Given the description of an element on the screen output the (x, y) to click on. 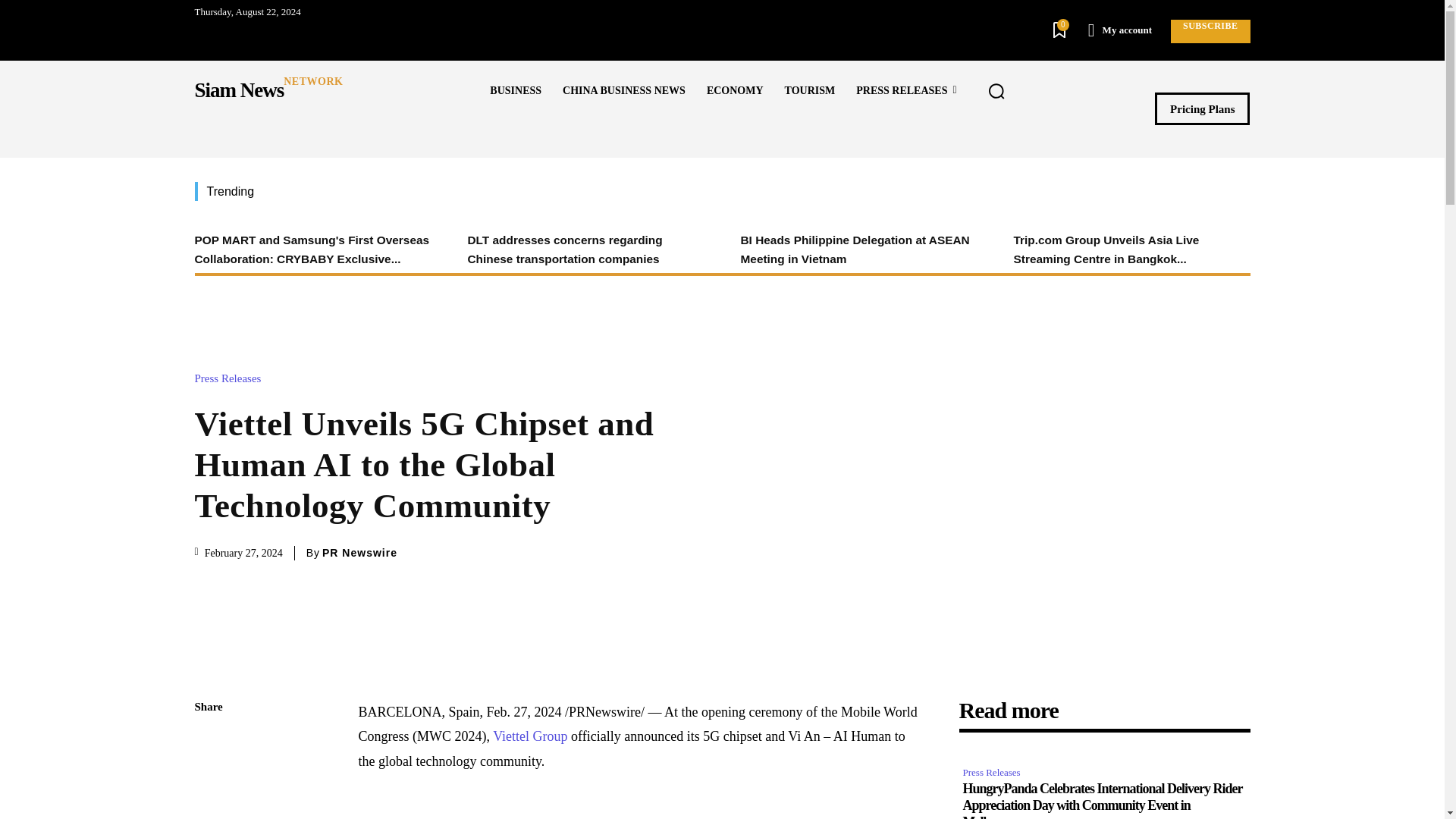
SUBSCRIBE (1210, 31)
BI Heads Philippine Delegation at ASEAN Meeting in Vietnam (854, 249)
Pricing Plans (1201, 108)
Subscribe (1210, 31)
